Given the description of an element on the screen output the (x, y) to click on. 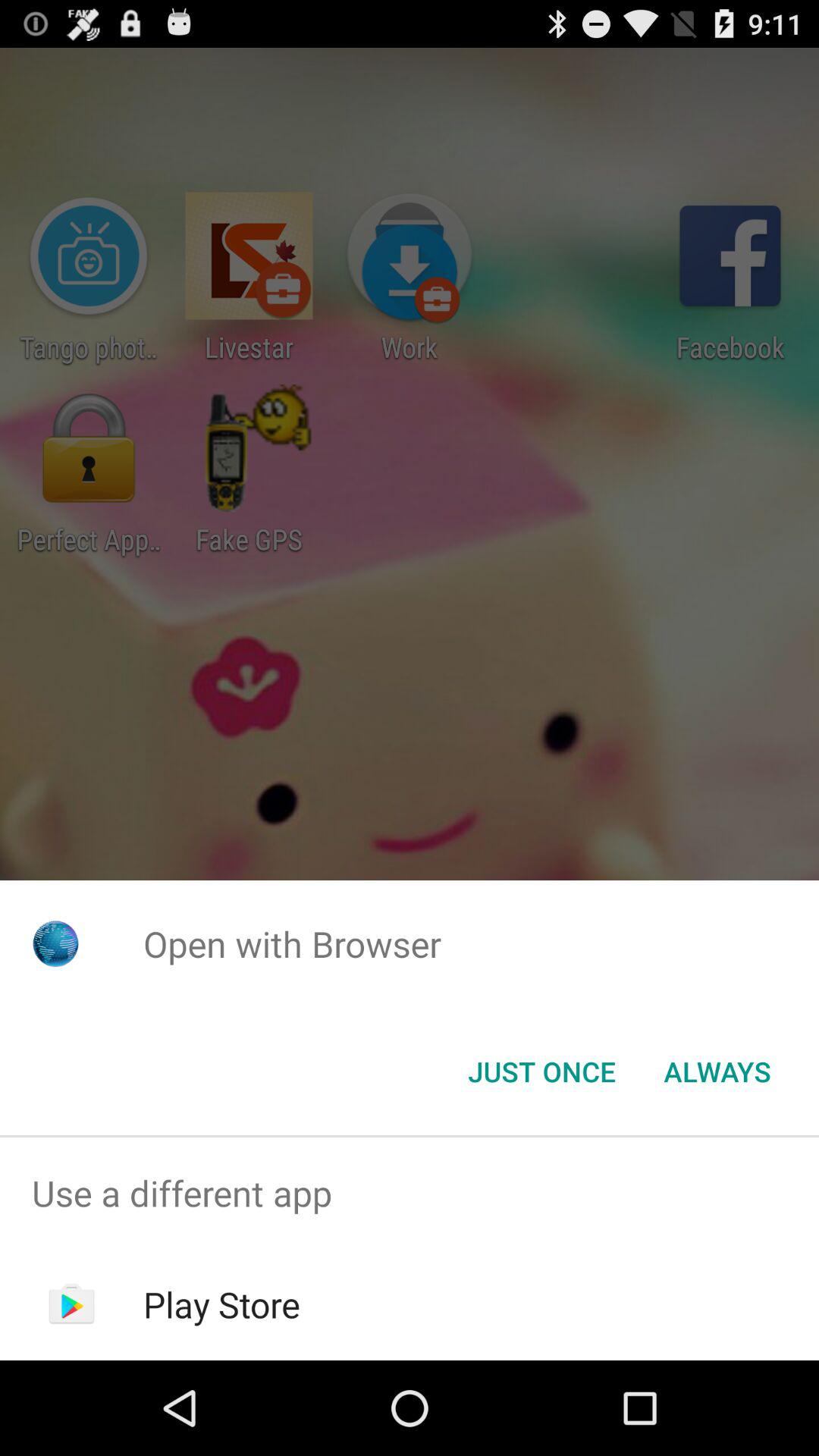
click the app below the open with browser icon (717, 1071)
